Given the description of an element on the screen output the (x, y) to click on. 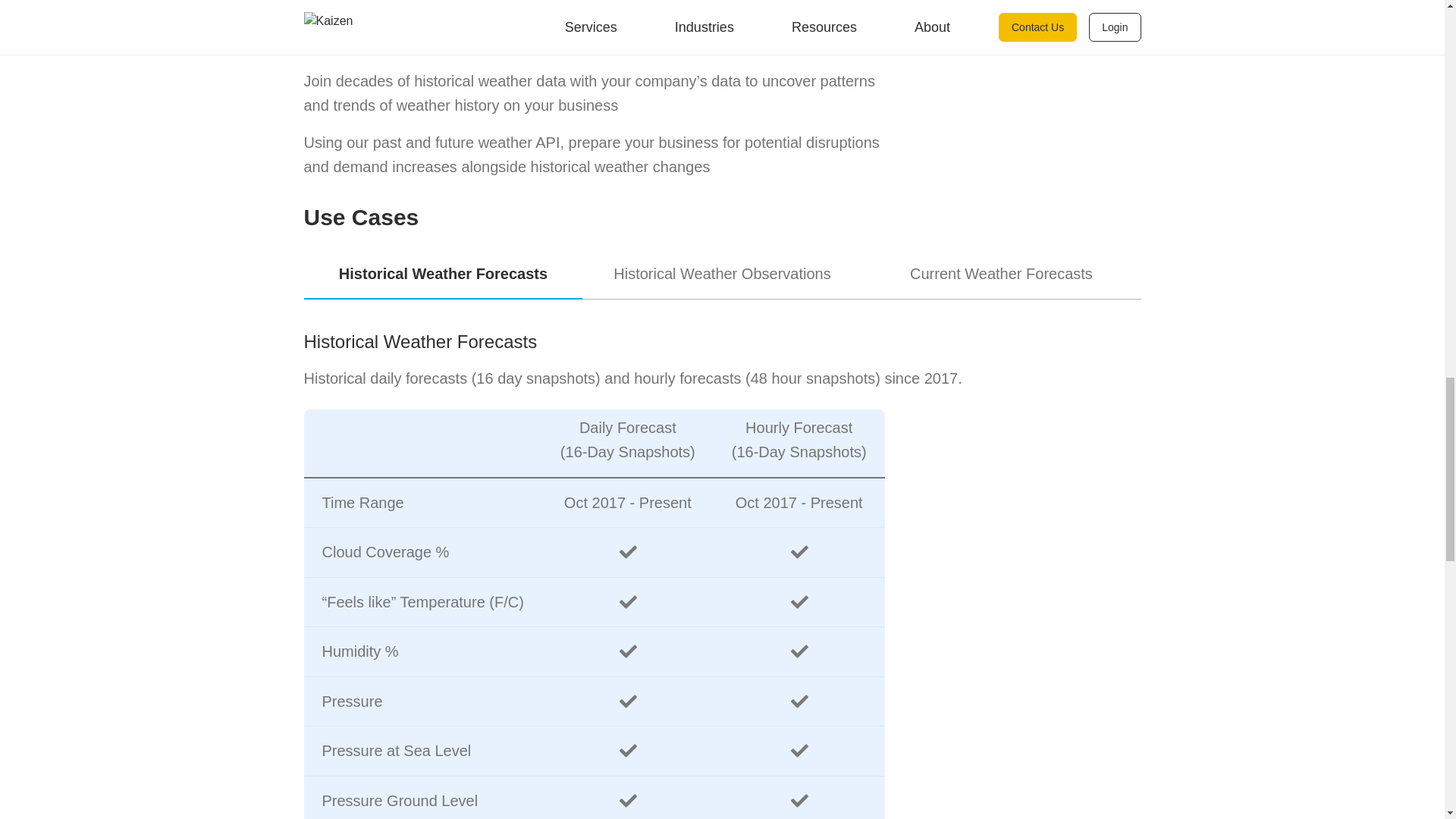
Historical Weather Observations (721, 273)
Current Weather Forecasts (1000, 273)
Historical Weather Forecasts (442, 273)
